Given the description of an element on the screen output the (x, y) to click on. 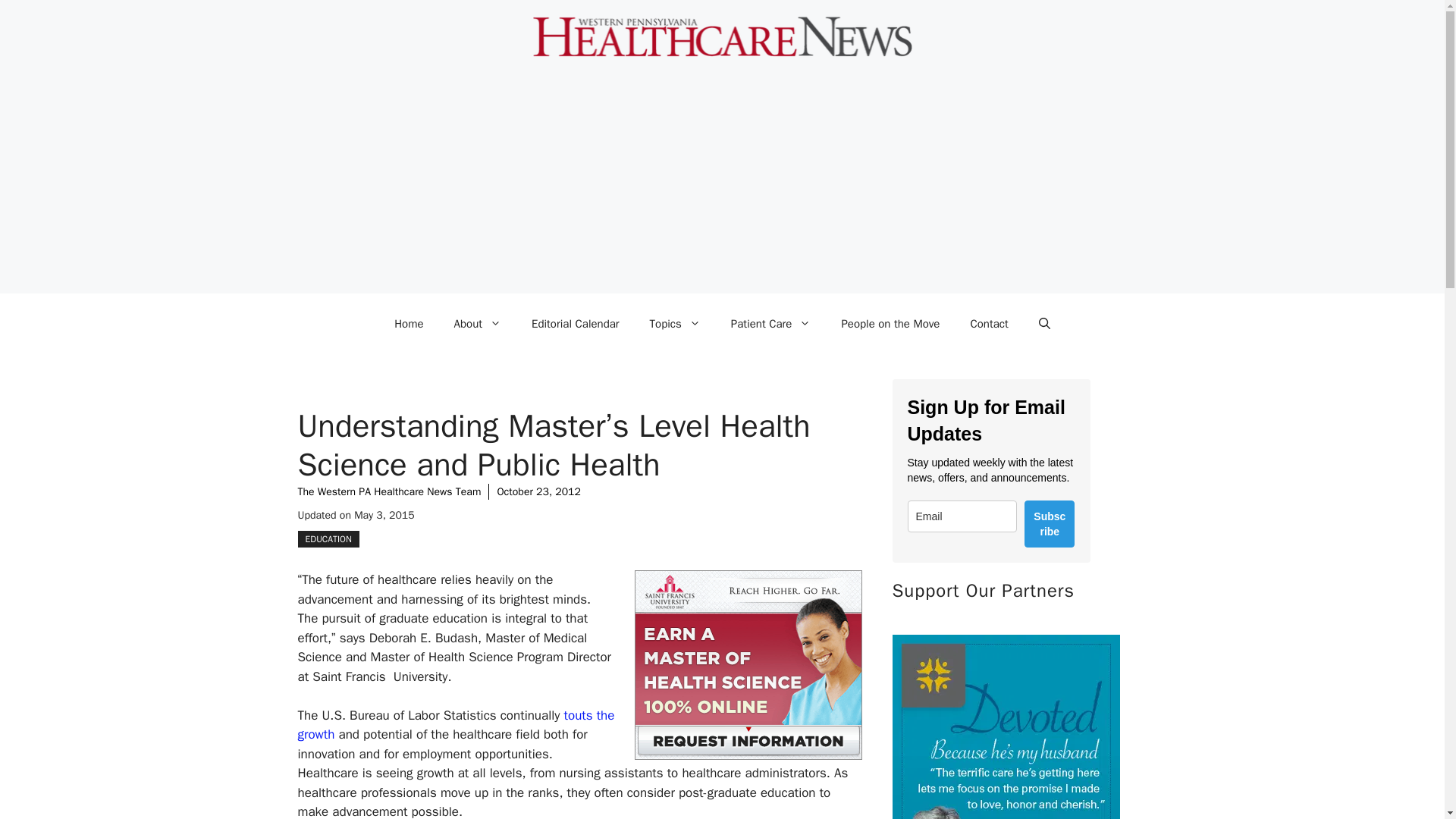
Topics (675, 323)
Patient Care (771, 323)
Contact (989, 323)
EDUCATION (327, 538)
image001 (747, 665)
Home (408, 323)
People on the Move (890, 323)
Editorial Calendar (575, 323)
About (477, 323)
touts the growth (455, 724)
The Western PA Healthcare News Team (388, 491)
